Given the description of an element on the screen output the (x, y) to click on. 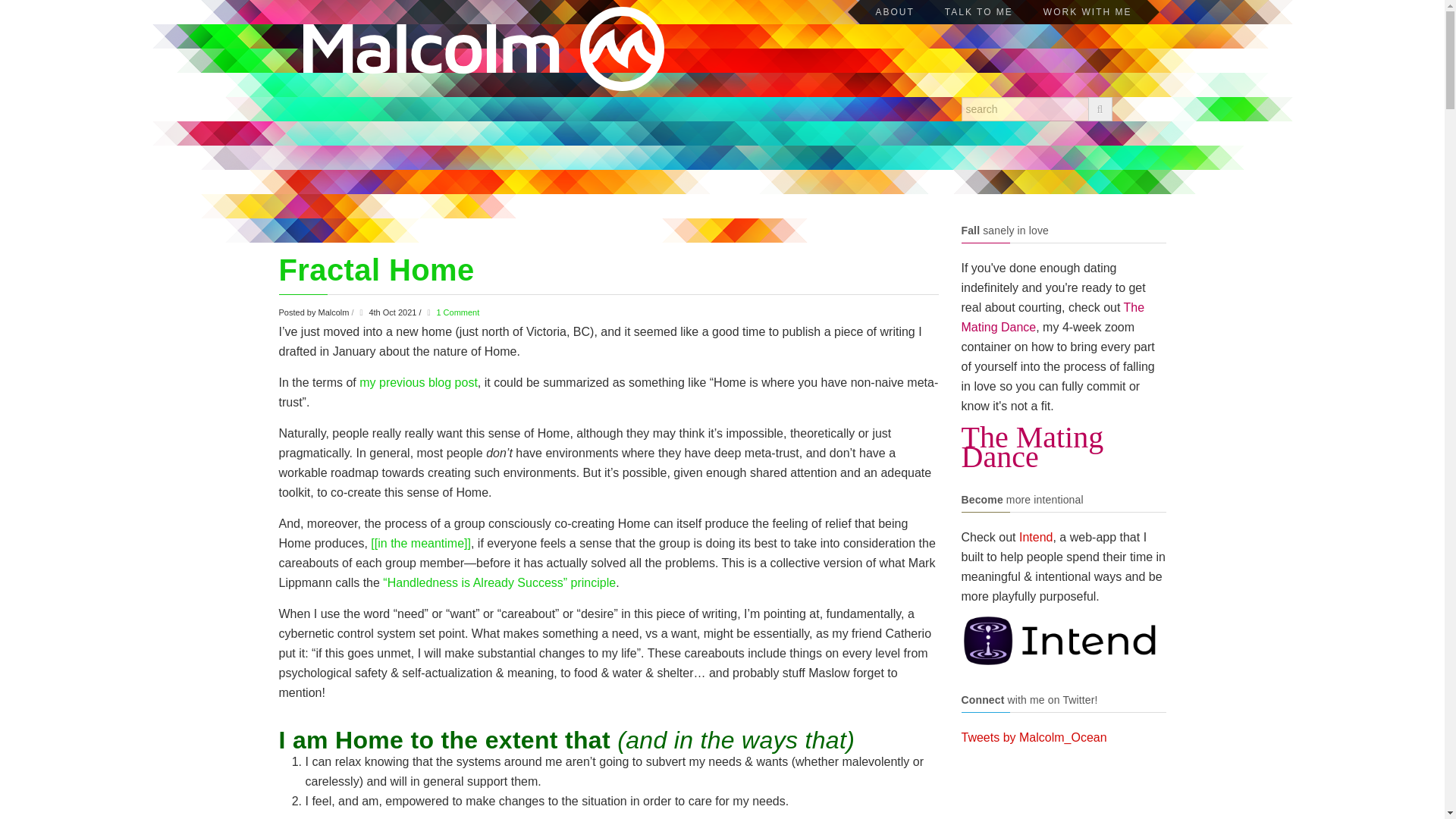
TALK TO ME (978, 12)
Fractal Home (376, 269)
1 Comment (457, 311)
1 Comment (457, 311)
my previous blog post (418, 382)
ABOUT (894, 12)
WORK WITH ME (1087, 12)
